Given the description of an element on the screen output the (x, y) to click on. 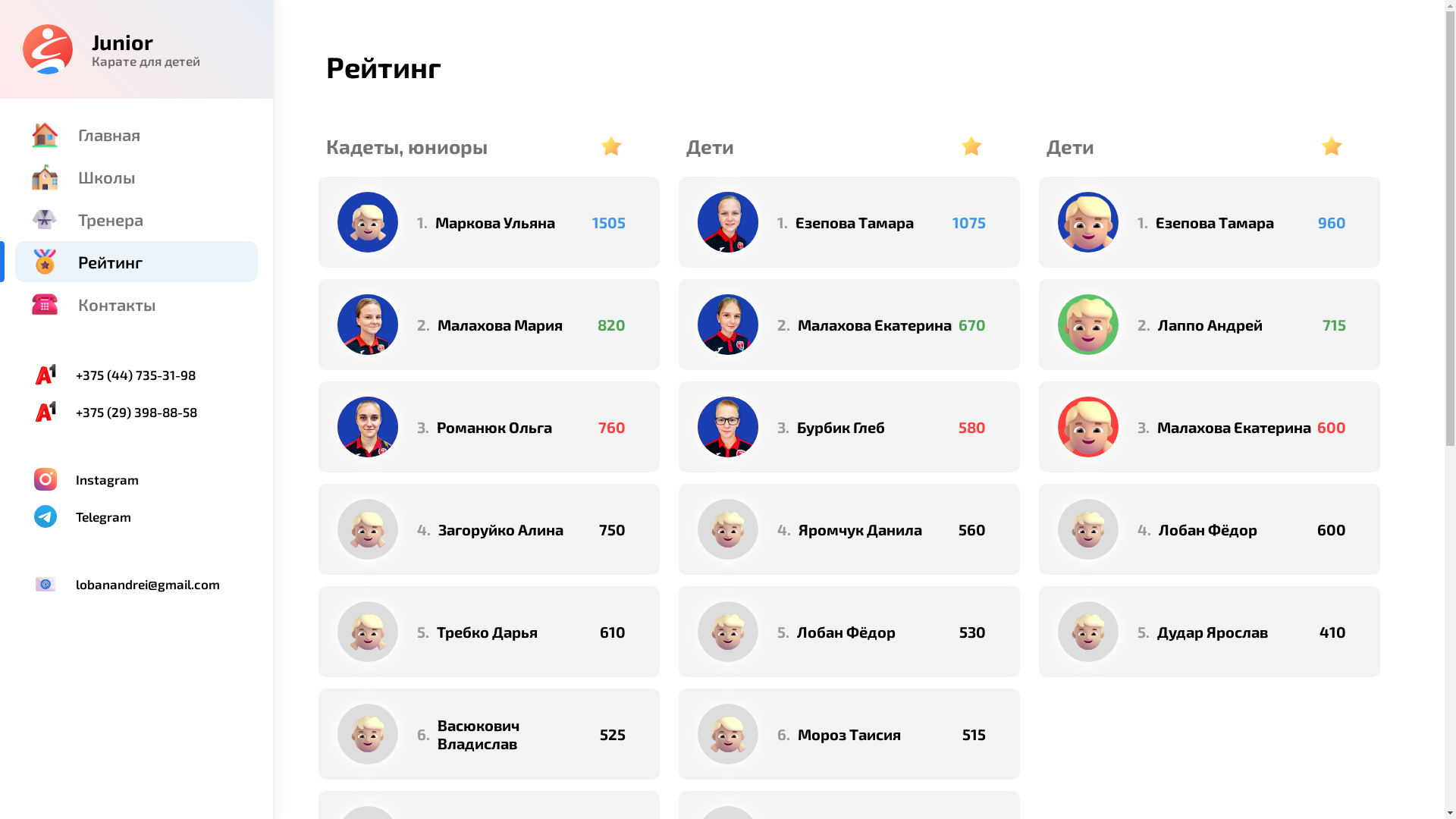
+375 (44) 735-31-98 Element type: text (136, 374)
Telegram Element type: text (136, 516)
lobanandrei@gmail.com Element type: text (136, 583)
+375 (29) 398-88-58 Element type: text (136, 411)
Instagram Element type: text (136, 479)
